Given the description of an element on the screen output the (x, y) to click on. 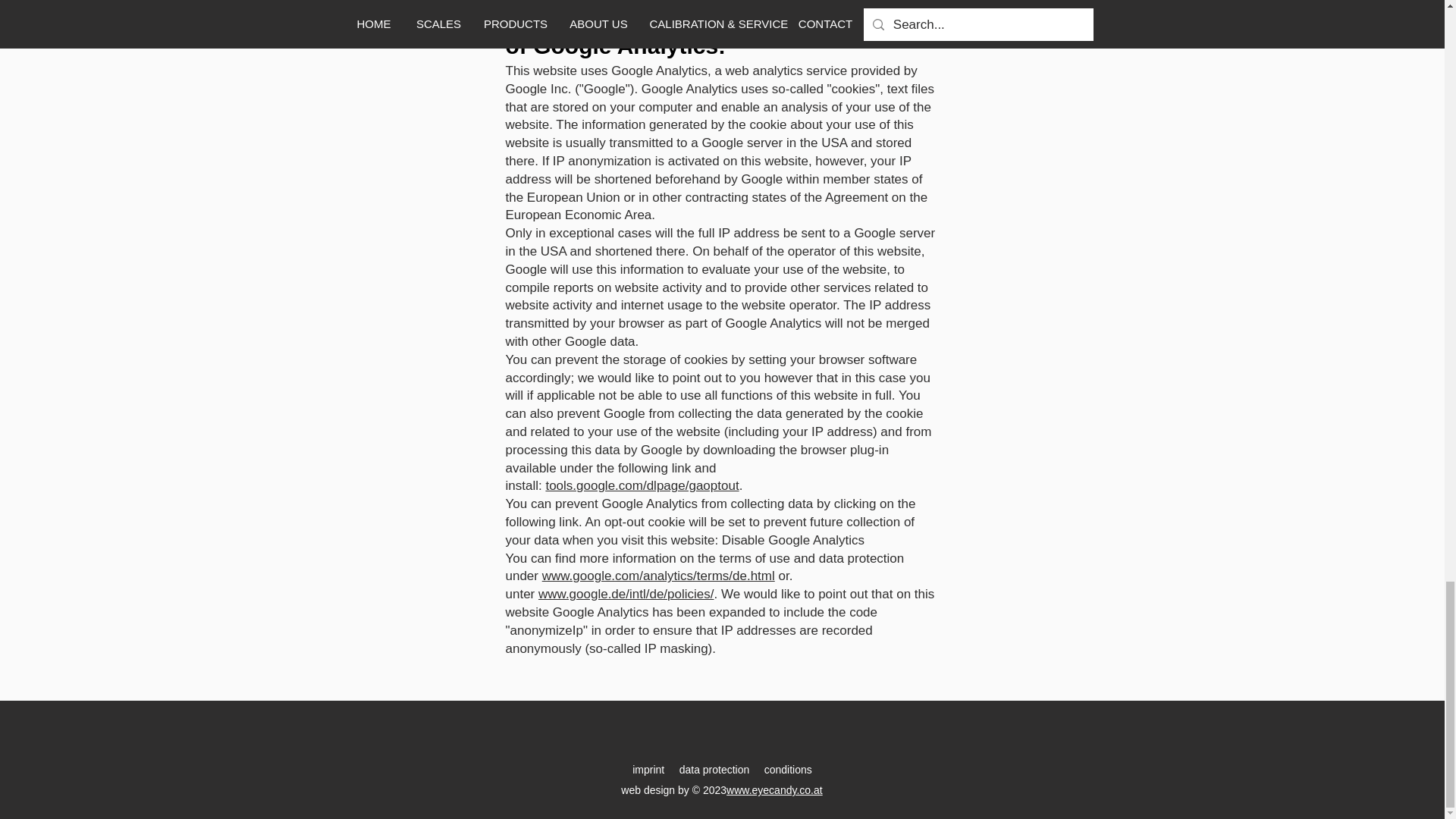
data protection (714, 769)
www.eyecandy.co.at (774, 789)
onditions (791, 769)
imprint (647, 769)
